Given the description of an element on the screen output the (x, y) to click on. 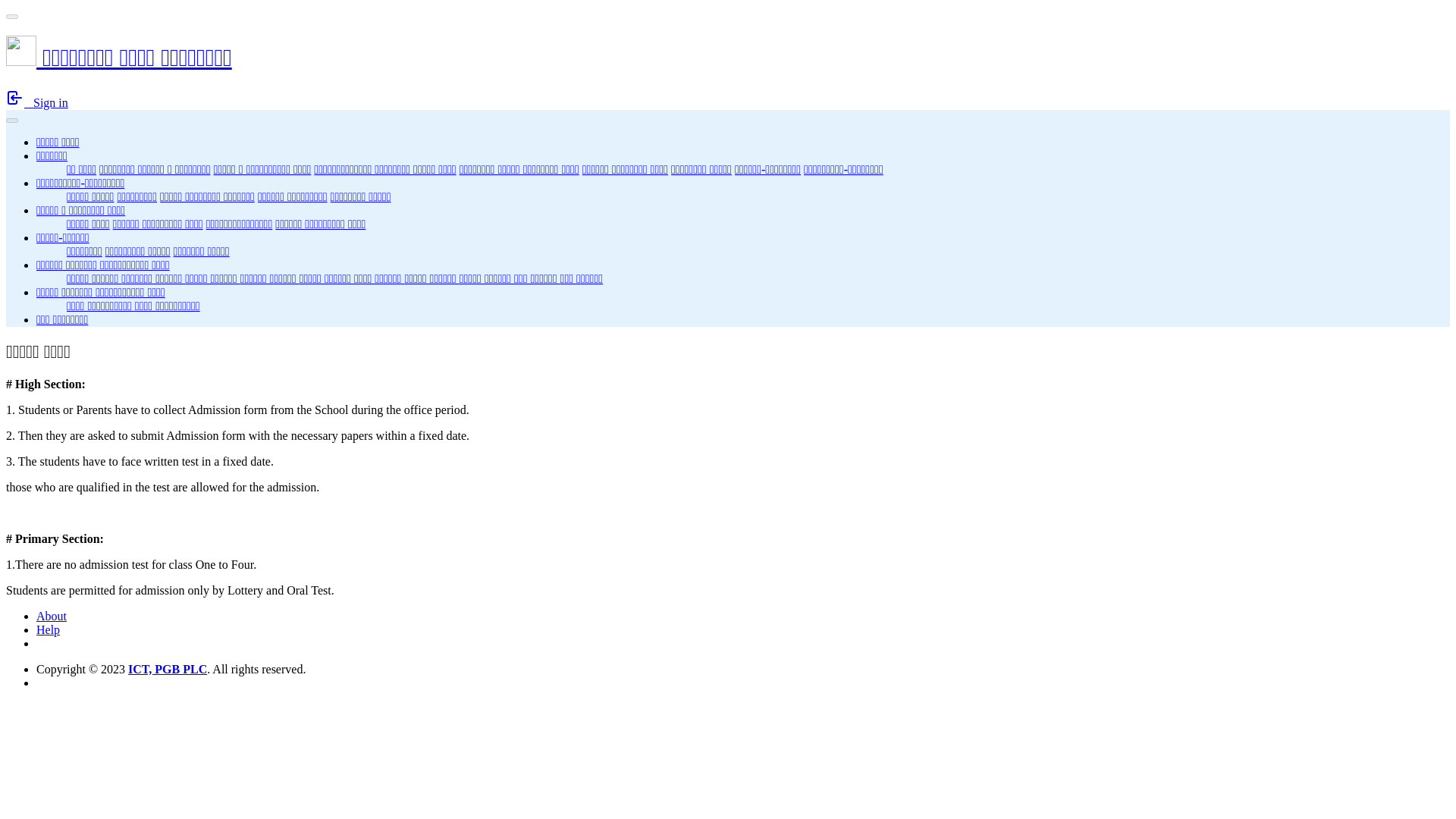
  Sign in (36, 102)
